Given the description of an element on the screen output the (x, y) to click on. 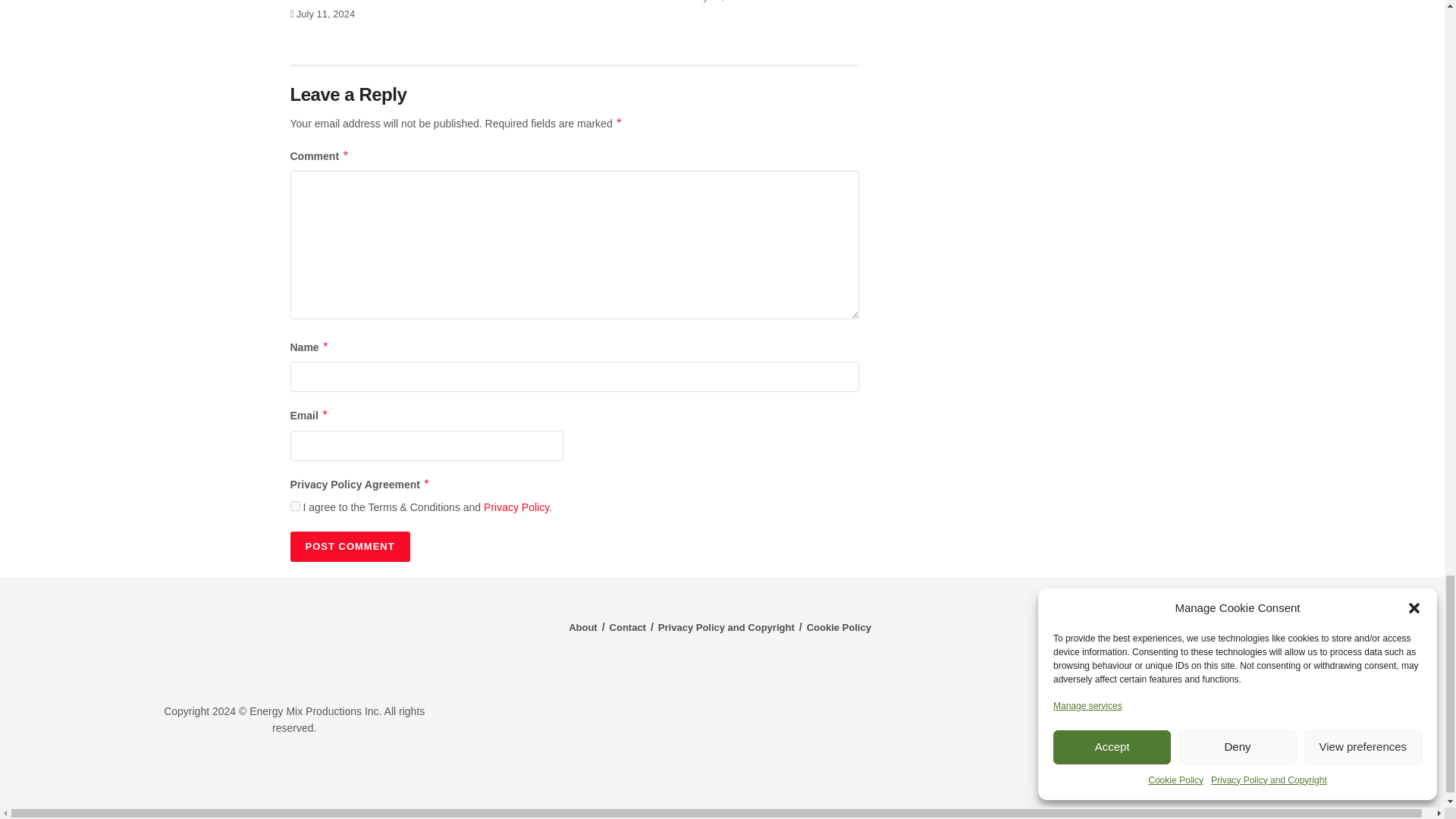
tem-logo-2024 (294, 641)
Climate-and-Capital (1221, 772)
on (294, 506)
Post Comment (349, 546)
